Given the description of an element on the screen output the (x, y) to click on. 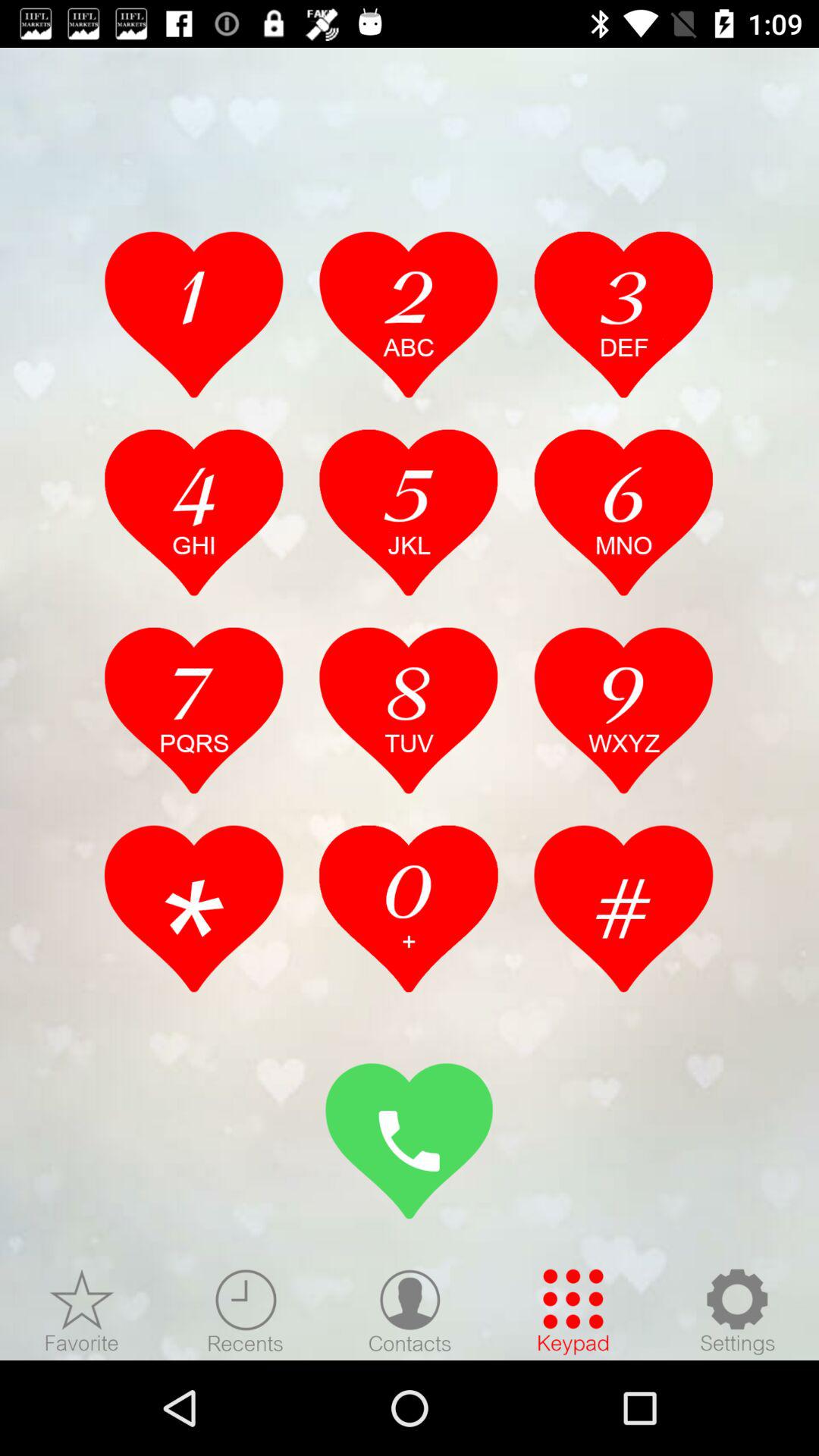
toggle number list (194, 710)
